Given the description of an element on the screen output the (x, y) to click on. 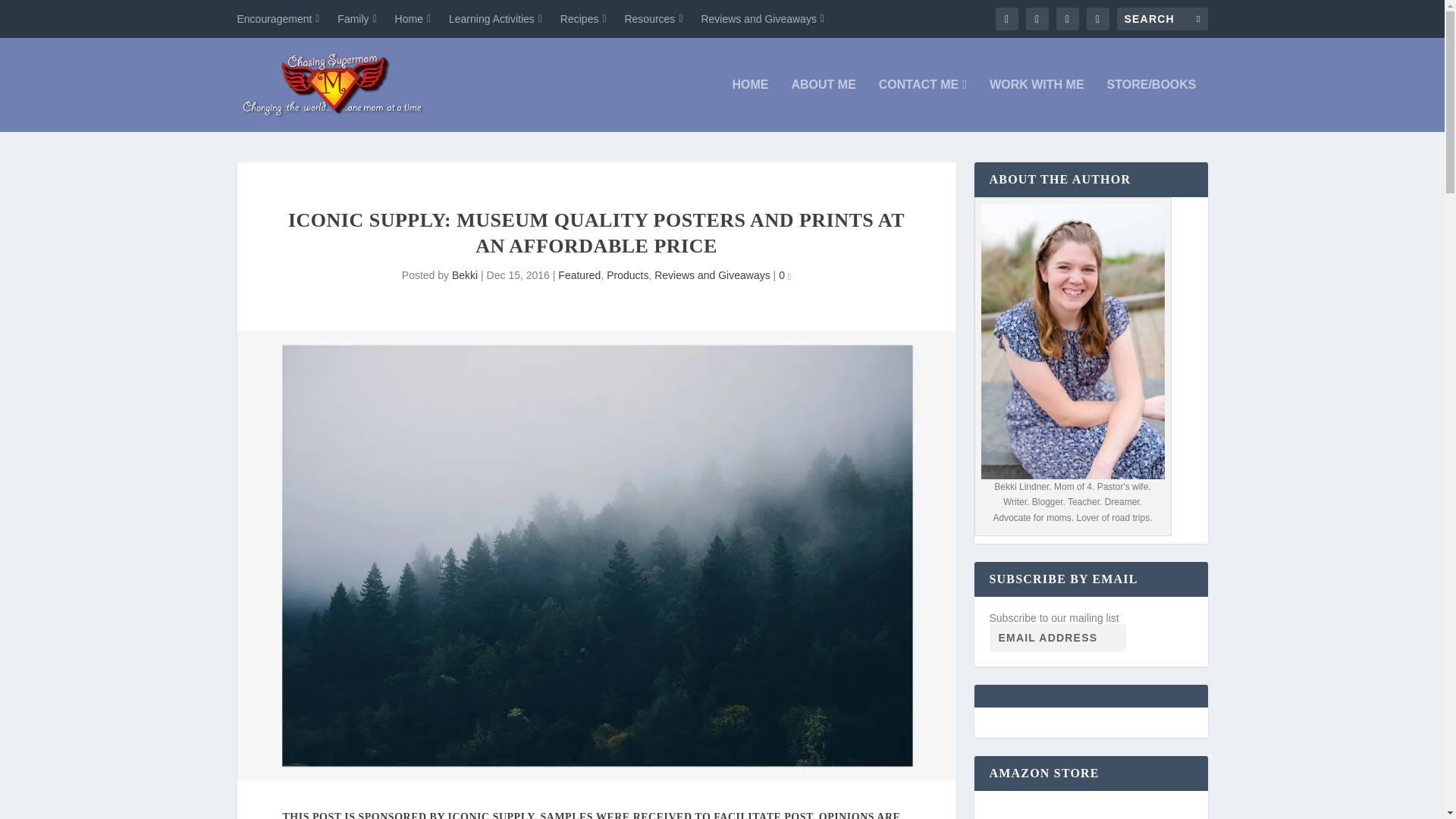
Home (412, 18)
Learning Activities (494, 18)
Family (356, 18)
Encouragement (276, 18)
Posts by Bekki (464, 275)
Search for: (1161, 18)
